Given the description of an element on the screen output the (x, y) to click on. 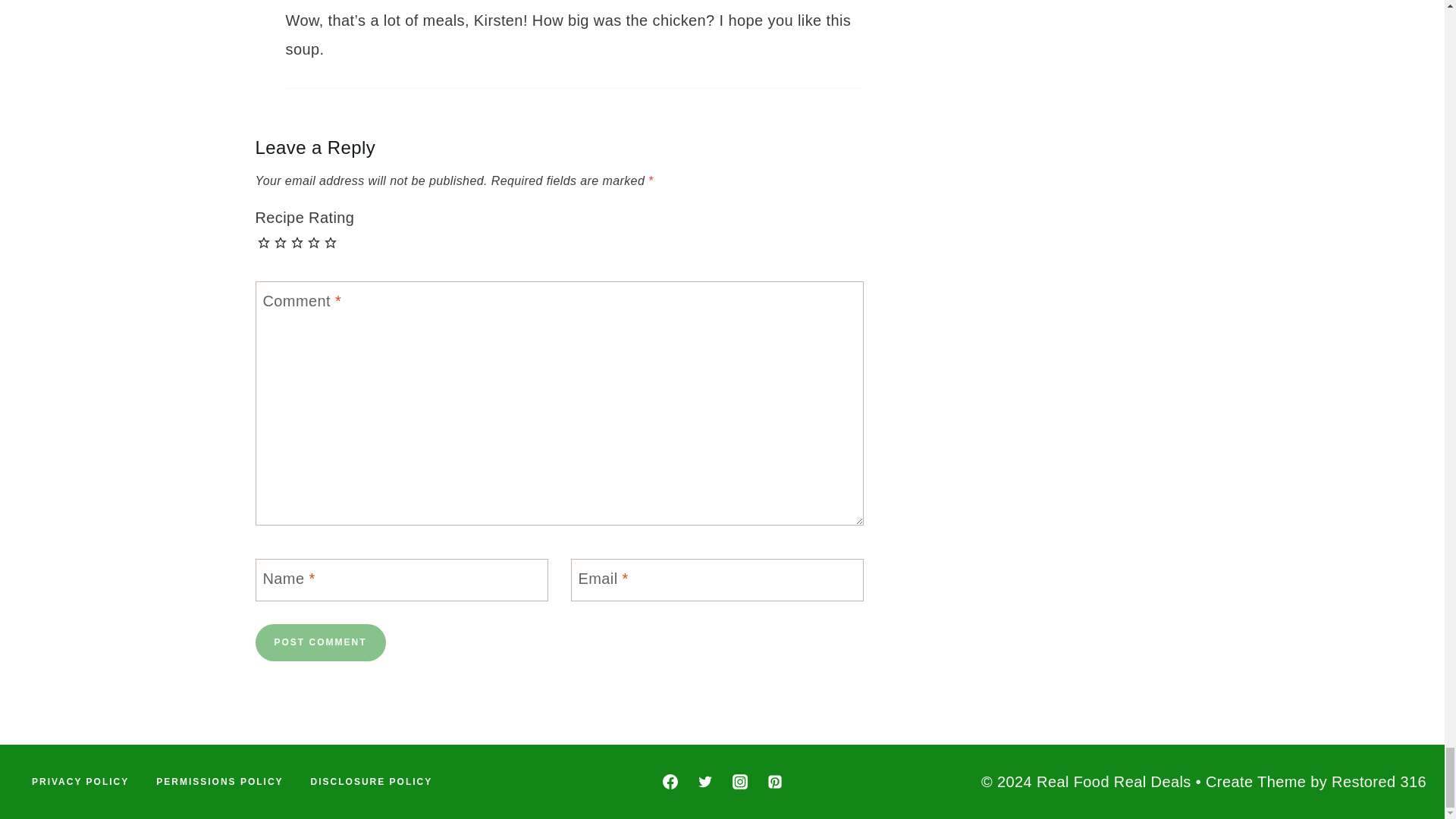
Post Comment (319, 642)
